Given the description of an element on the screen output the (x, y) to click on. 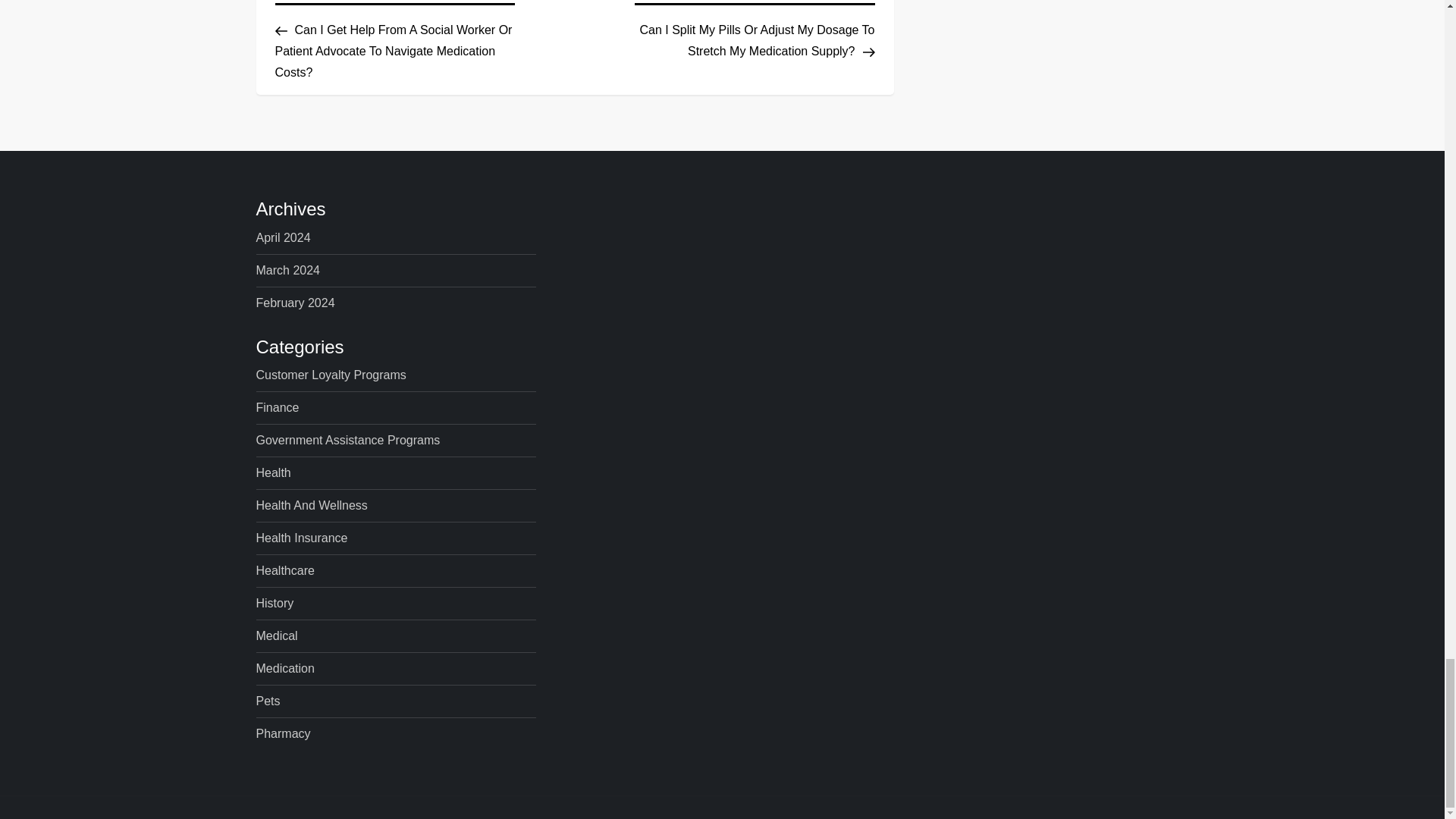
February 2024 (295, 302)
Finance (277, 407)
Customer Loyalty Programs (331, 374)
Government Assistance Programs (348, 440)
April 2024 (283, 237)
Health (273, 473)
March 2024 (288, 270)
